Given the description of an element on the screen output the (x, y) to click on. 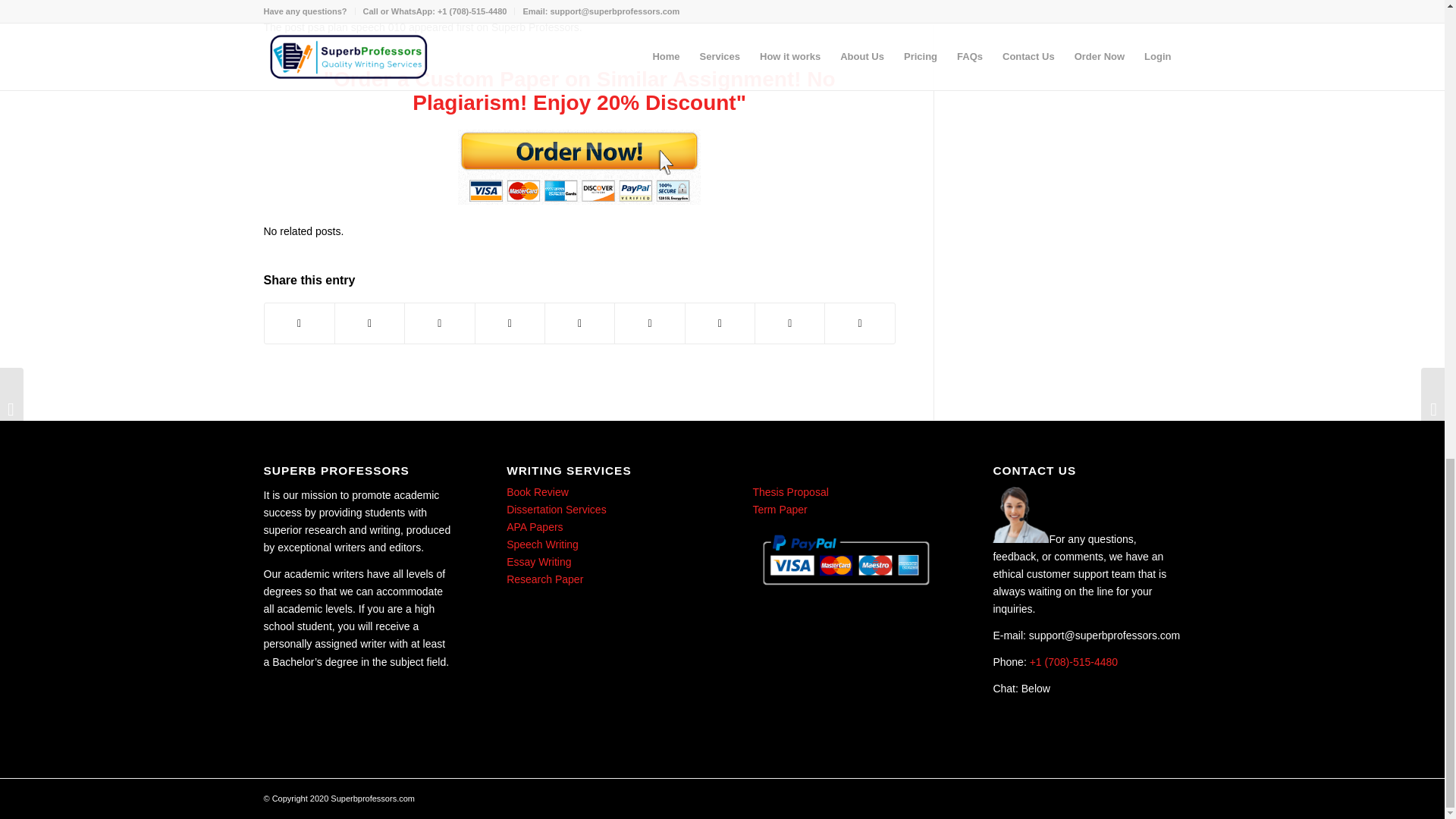
Essay Writing (538, 562)
APA Papers (534, 526)
Book Review (537, 491)
Research Paper (544, 579)
Speech Writing (542, 544)
Dissertation Services (556, 509)
 Term Paper (778, 509)
 Thesis Proposal (788, 491)
